Given the description of an element on the screen output the (x, y) to click on. 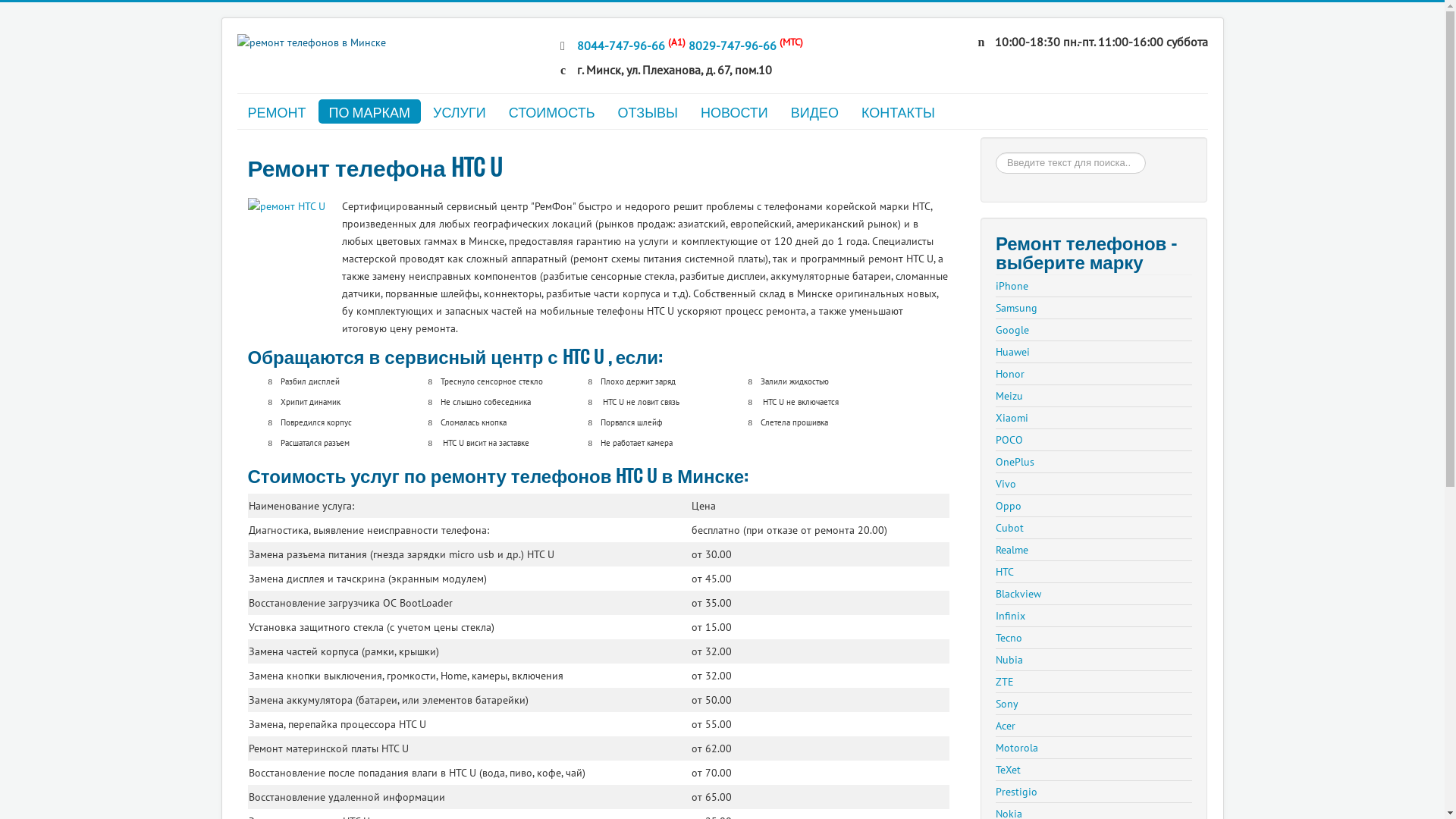
2 out of 5 Element type: hover (262, 189)
3 out of 5 Element type: hover (269, 189)
TeXet Element type: text (1093, 769)
Meizu Element type: text (1093, 395)
Prestigio Element type: text (1093, 791)
5 out of 5 Element type: hover (285, 189)
4 out of 5 Element type: hover (277, 189)
HTC Element type: text (1093, 571)
Realme Element type: text (1093, 549)
ZTE Element type: text (1093, 681)
Acer Element type: text (1093, 725)
Infinix Element type: text (1093, 615)
Tecno Element type: text (1093, 637)
Vivo Element type: text (1093, 483)
Oppo Element type: text (1093, 505)
iPhone Element type: text (1093, 285)
8029-747-96-66 Element type: text (732, 45)
Motorola Element type: text (1093, 747)
Samsung Element type: text (1093, 307)
Huawei Element type: text (1093, 351)
Xiaomi Element type: text (1093, 417)
Honor Element type: text (1093, 373)
Nubia Element type: text (1093, 659)
OnePlus Element type: text (1093, 461)
Blackview Element type: text (1093, 593)
Cubot Element type: text (1093, 527)
1 out of 5 Element type: hover (254, 189)
8044-747-96-66 Element type: text (621, 45)
Sony Element type: text (1093, 703)
POCO Element type: text (1093, 439)
Google Element type: text (1093, 329)
